Given the description of an element on the screen output the (x, y) to click on. 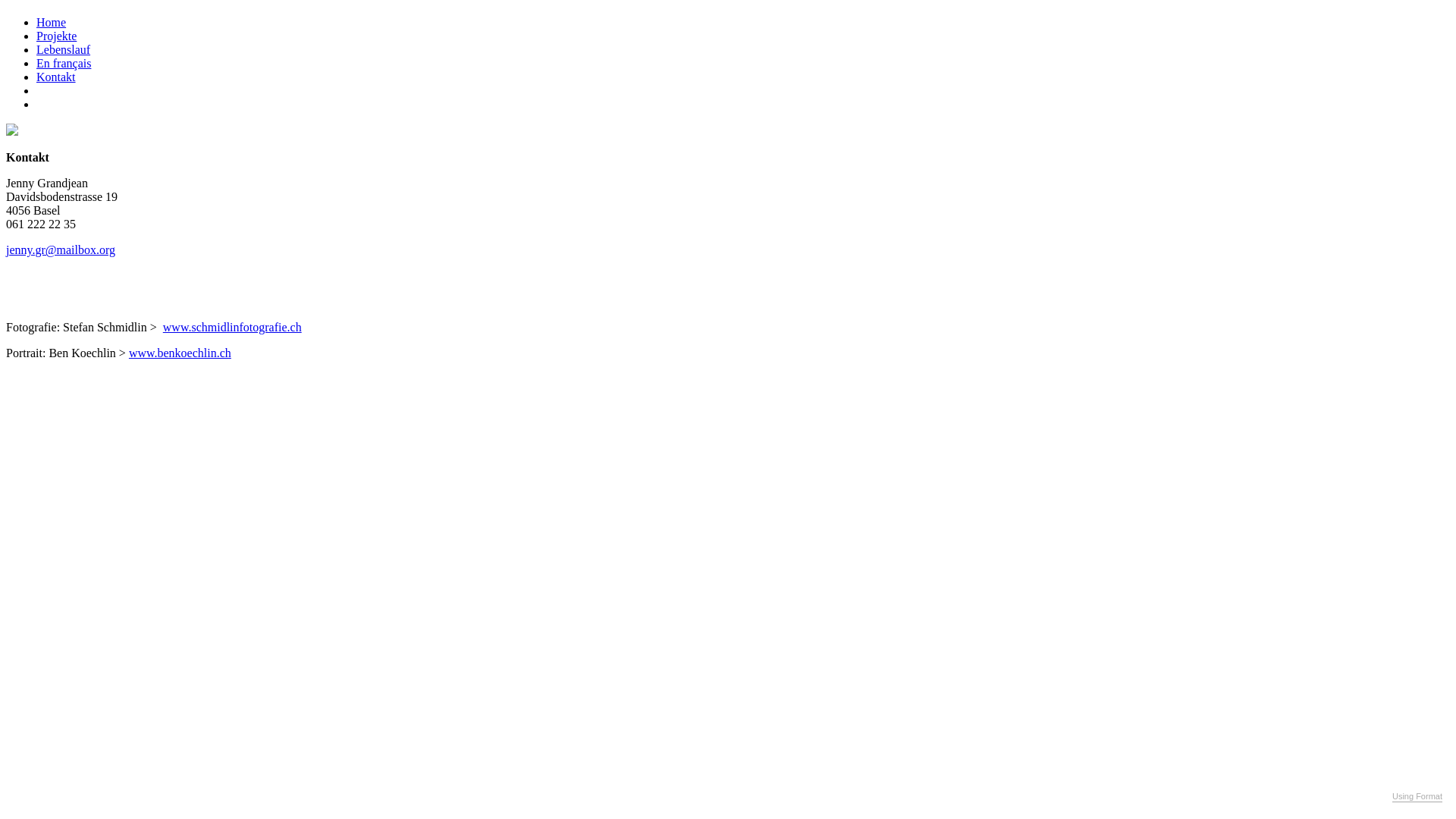
www.benkoechlin.ch Element type: text (179, 352)
Using Format Element type: text (1417, 796)
www.schmidlinfotografie.ch Element type: text (232, 326)
Home Element type: text (50, 21)
jenny.gr@mailbox.org Element type: text (60, 249)
Kontakt Element type: text (55, 76)
Projekte Element type: text (56, 35)
Lebenslauf Element type: text (63, 49)
